Given the description of an element on the screen output the (x, y) to click on. 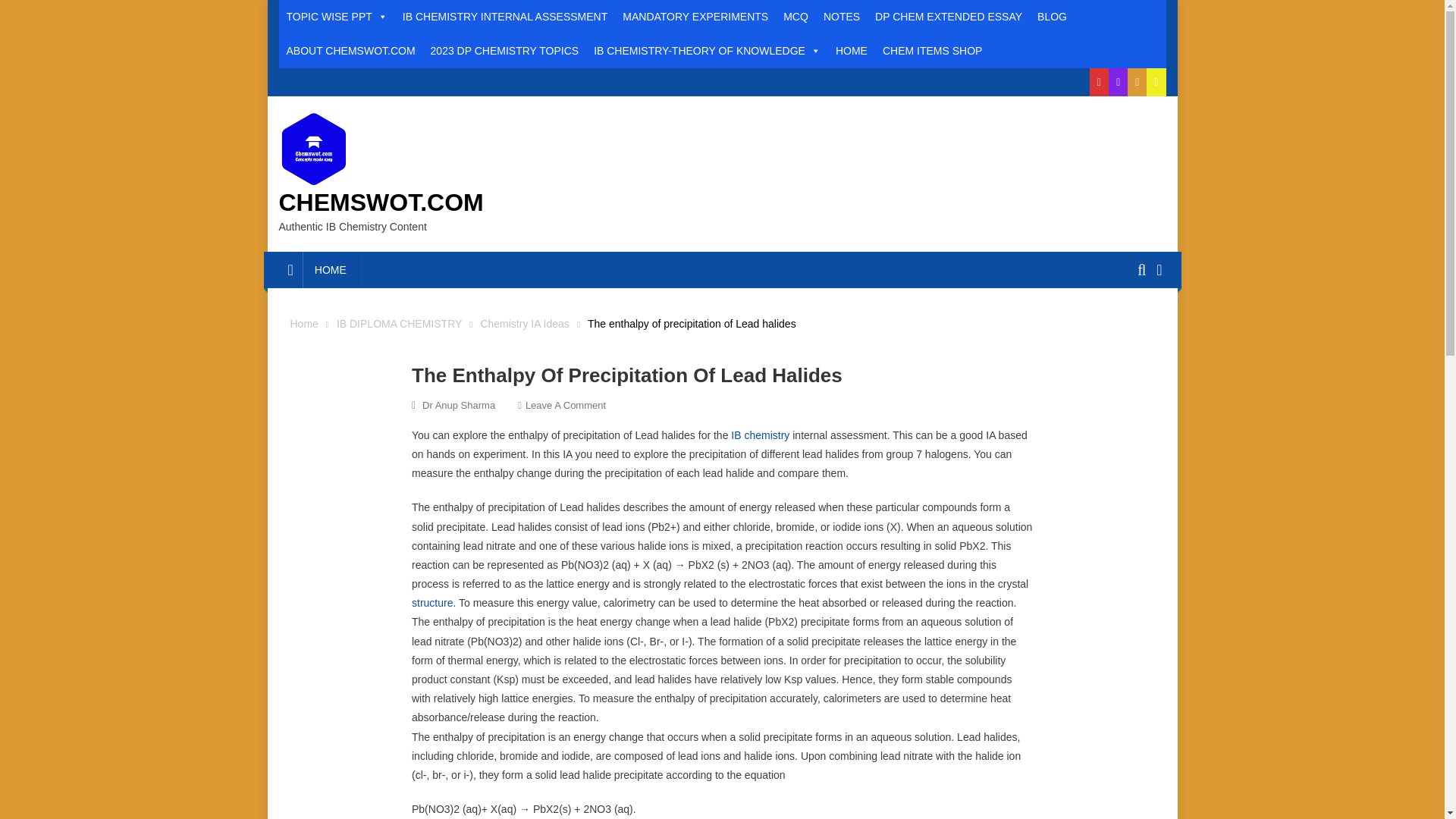
BLOG (1051, 17)
IB CHEMISTRY-THEORY OF KNOWLEDGE (707, 50)
ABOUT CHEMSWOT.COM (351, 50)
MANDATORY EXPERIMENTS (695, 17)
2023 DP CHEMISTRY TOPICS (504, 50)
DP CHEM EXTENDED ESSAY (948, 17)
MCQ (795, 17)
NOTES (841, 17)
IB CHEMISTRY INTERNAL ASSESSMENT (504, 17)
TOPIC WISE PPT (336, 17)
